Given the description of an element on the screen output the (x, y) to click on. 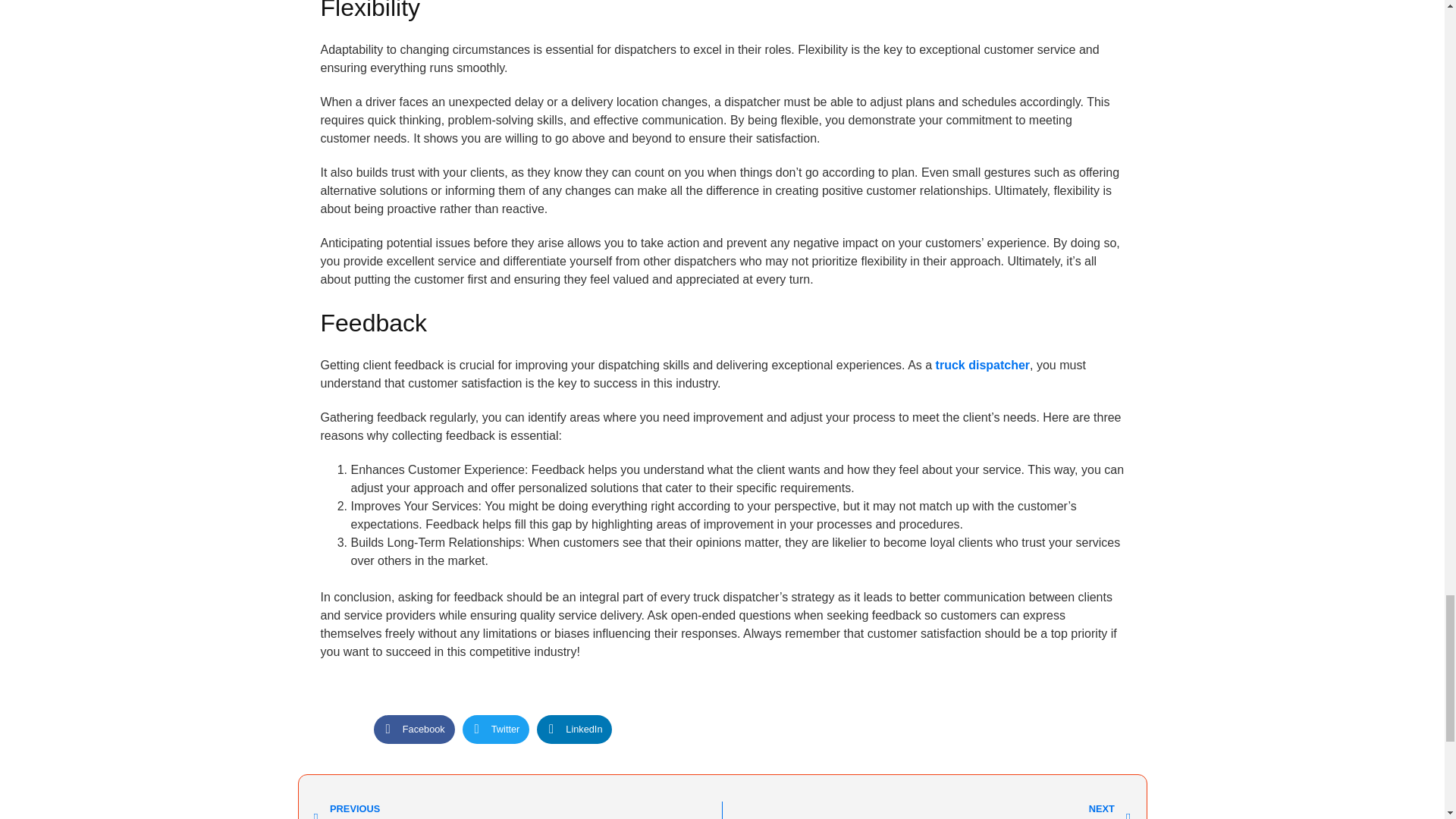
truck dispatcher (926, 810)
